Given the description of an element on the screen output the (x, y) to click on. 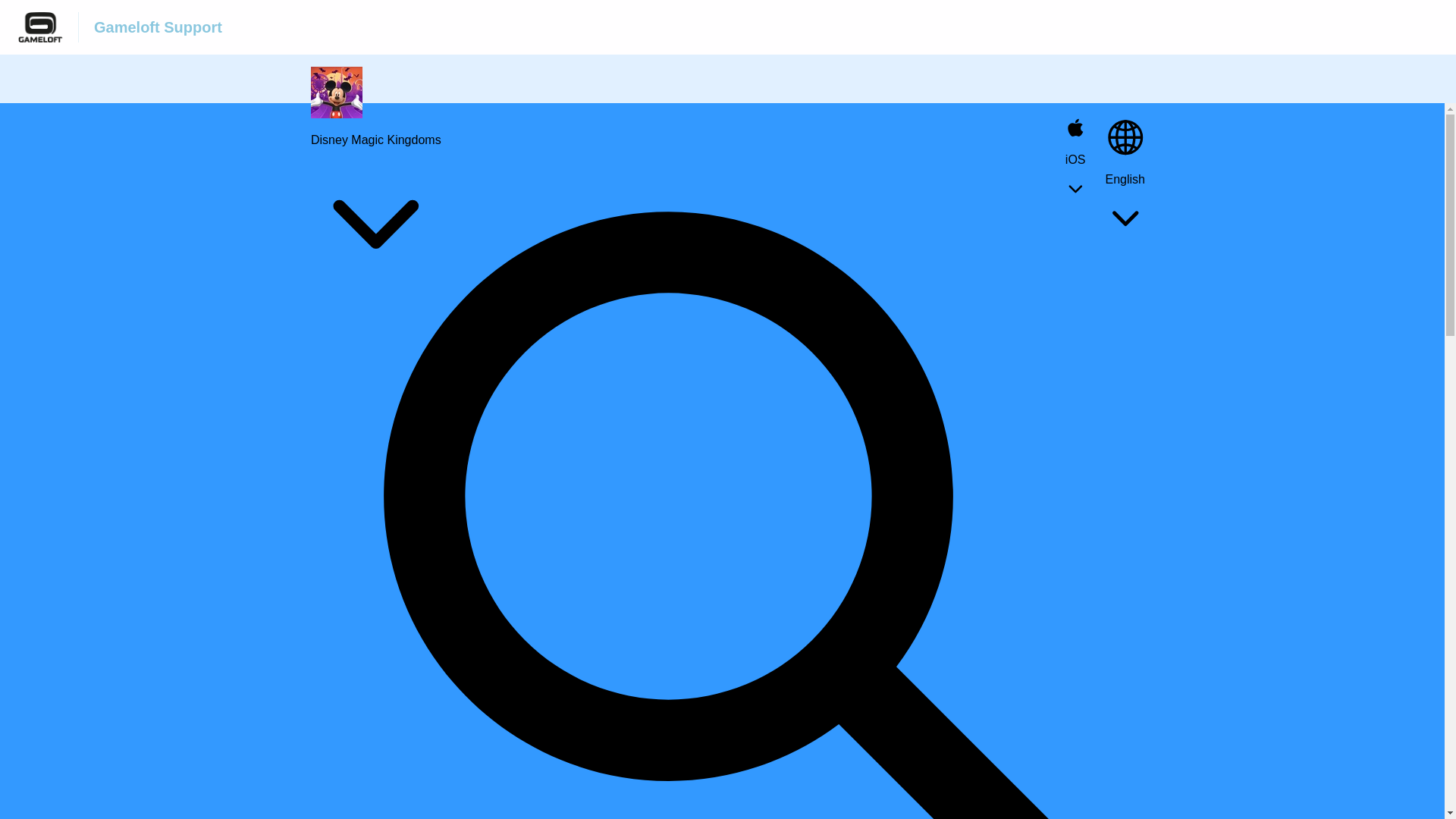
Gameloft Support (158, 27)
